Given the description of an element on the screen output the (x, y) to click on. 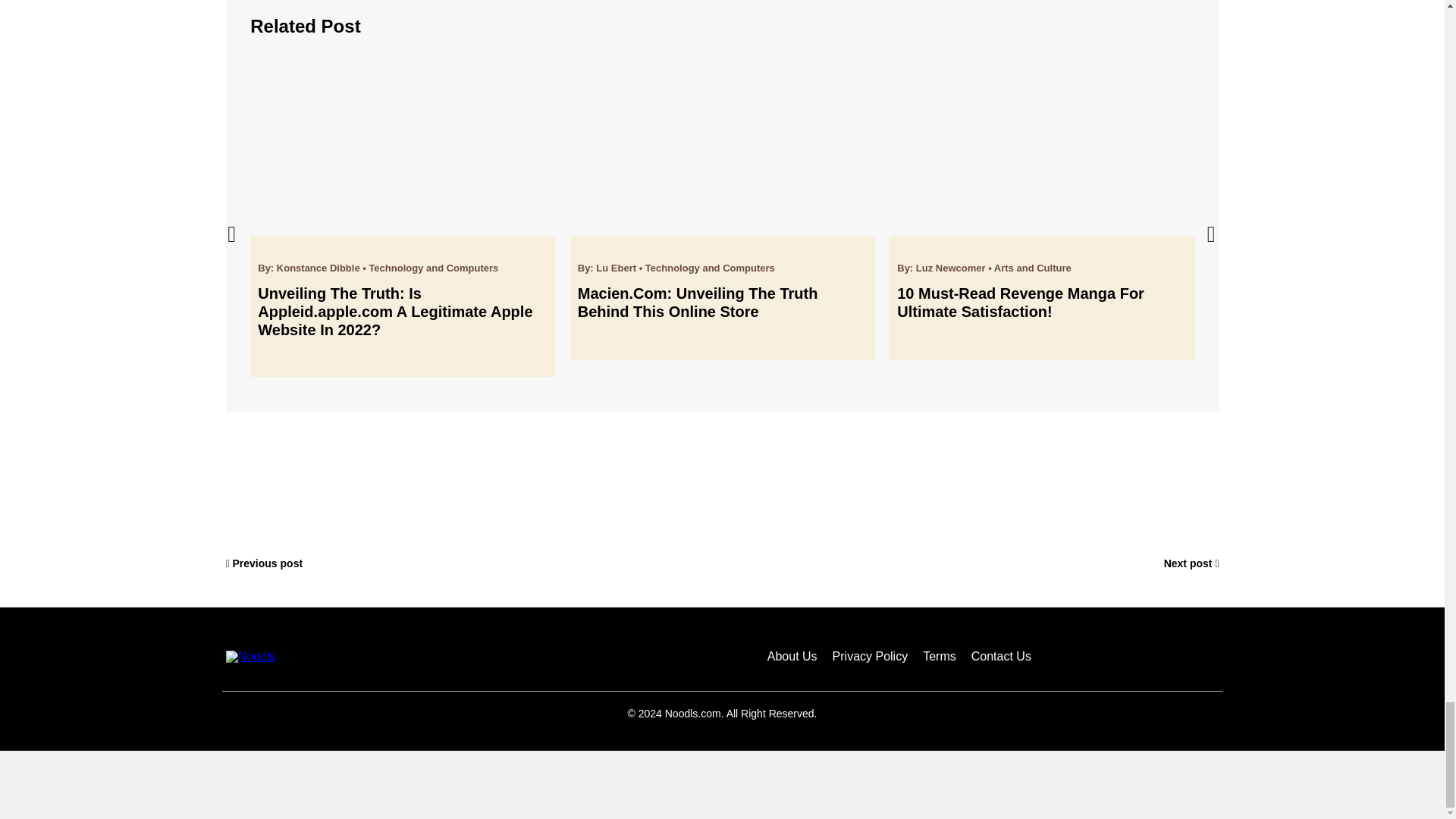
Noodls (250, 656)
